Given the description of an element on the screen output the (x, y) to click on. 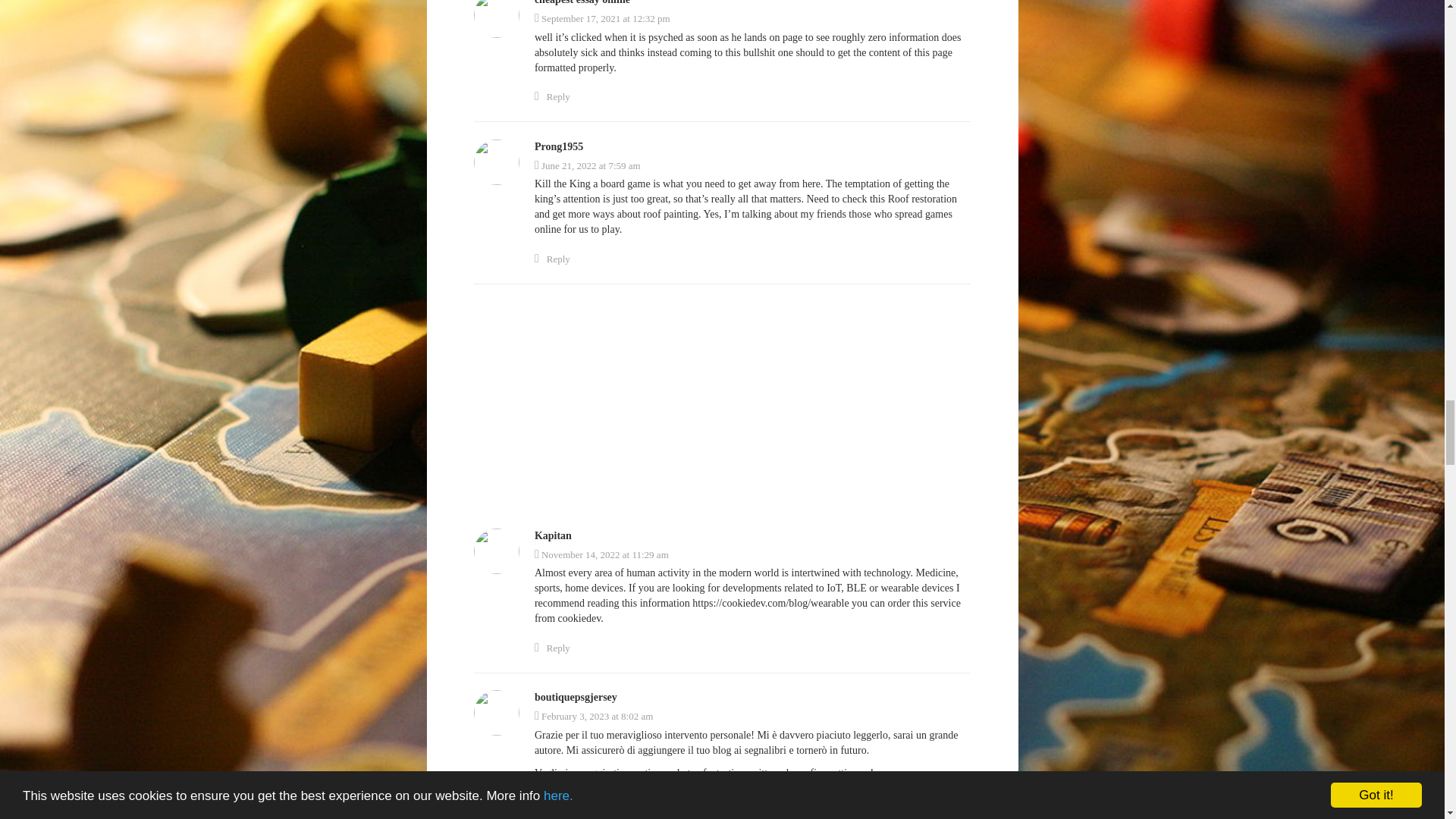
Roof restoration (922, 198)
cheapest essay online (582, 2)
Reply (552, 97)
Reply (552, 259)
November 14, 2022 at 11:29 am (601, 554)
September 17, 2021 at 12:32 pm (601, 18)
February 3, 2023 at 8:02 am (593, 715)
boutiquepsgjersey (575, 696)
yourquote (652, 795)
June 21, 2022 at 7:59 am (587, 165)
Reply (552, 648)
